Given the description of an element on the screen output the (x, y) to click on. 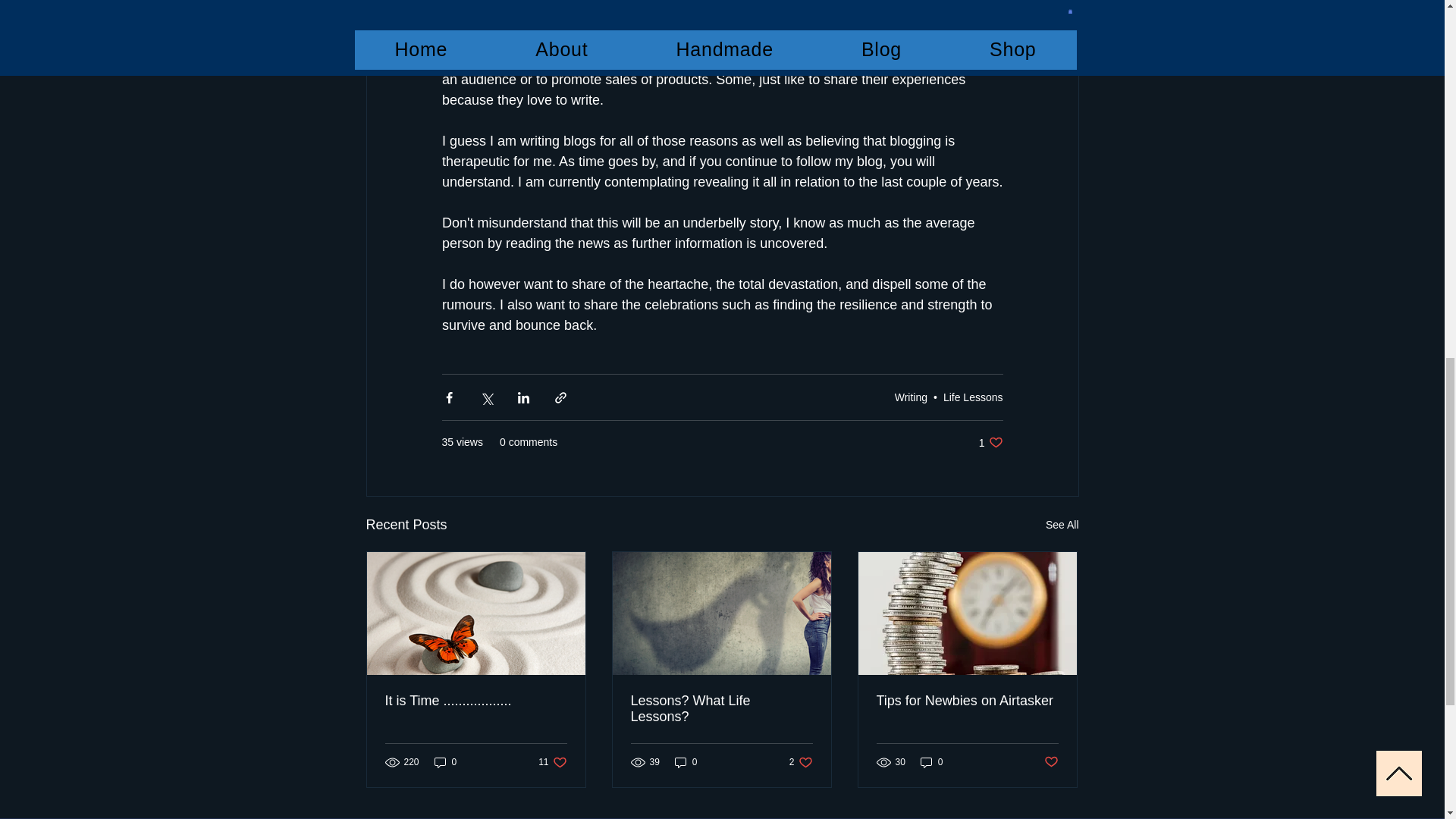
See All (1061, 525)
Writing (911, 397)
Post not marked as liked (1050, 762)
Tips for Newbies on Airtasker (967, 700)
0 (990, 441)
0 (552, 762)
Lessons? What Life Lessons? (931, 762)
It is Time .................. (685, 762)
